Given the description of an element on the screen output the (x, y) to click on. 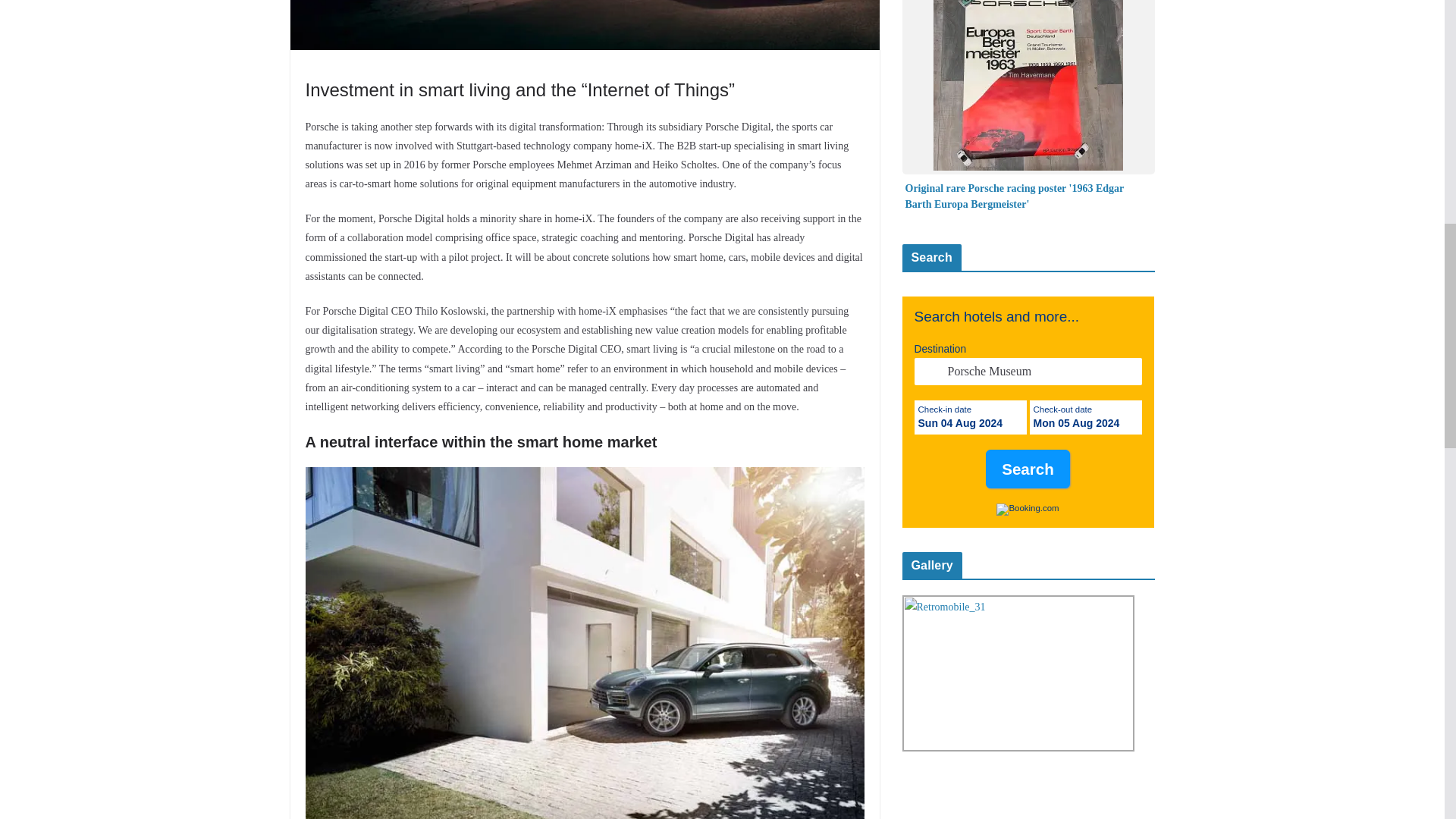
Search (1027, 468)
Porsche Museum (1027, 370)
